Given the description of an element on the screen output the (x, y) to click on. 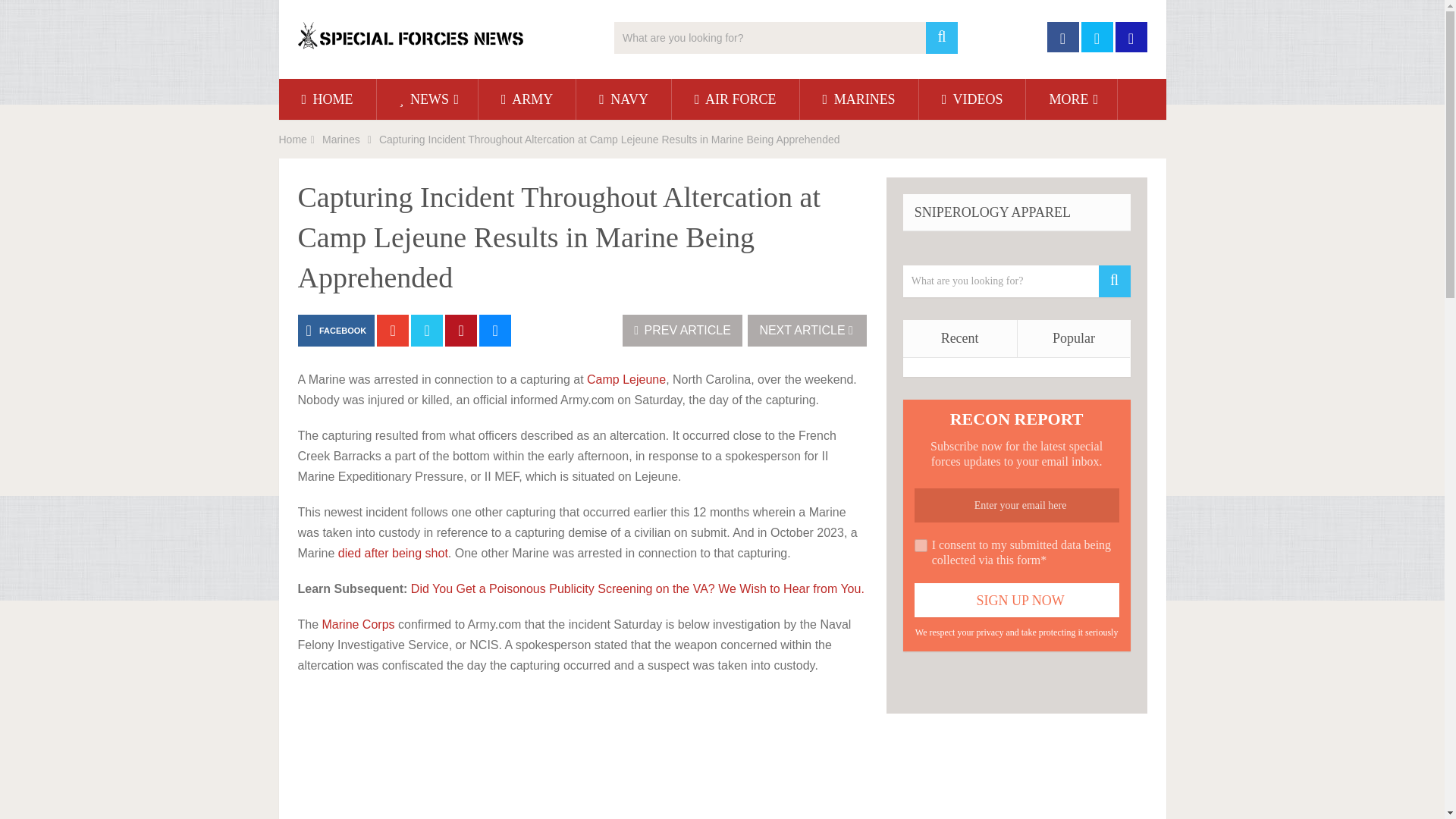
died after being shot (392, 553)
Camp Lejeune (625, 379)
AIR FORCE (735, 98)
MORE (1071, 98)
Home (293, 139)
Marine Corps (357, 624)
FACEBOOK (335, 330)
on (920, 545)
VIDEOS (972, 98)
